Given the description of an element on the screen output the (x, y) to click on. 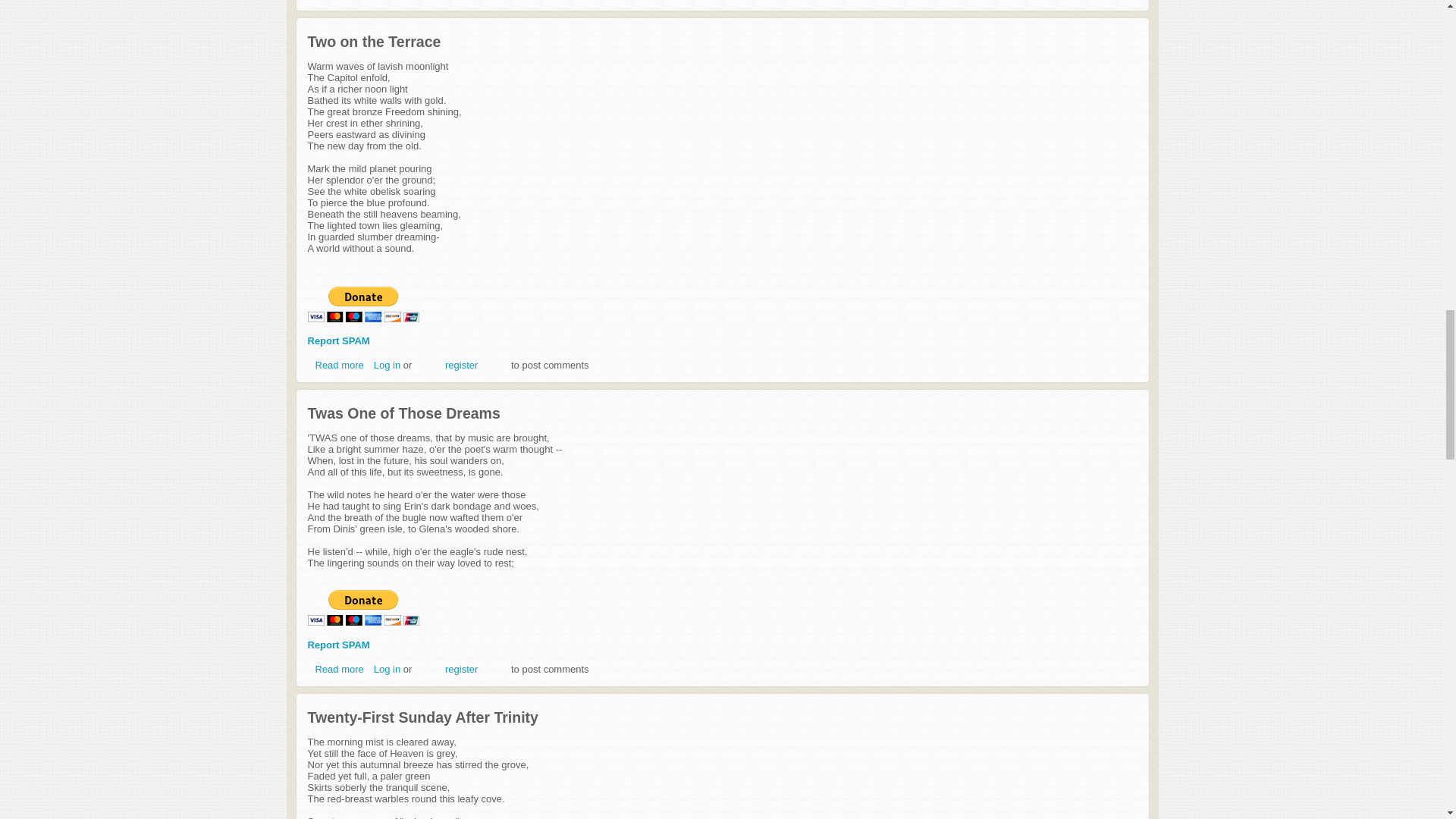
PayPal - The safer, easier way to pay online! (363, 607)
Report SPAM (338, 340)
Twas One of Those Dreams (339, 668)
PayPal - The safer, easier way to pay online! (363, 304)
Two on the Terrace (339, 365)
